Given the description of an element on the screen output the (x, y) to click on. 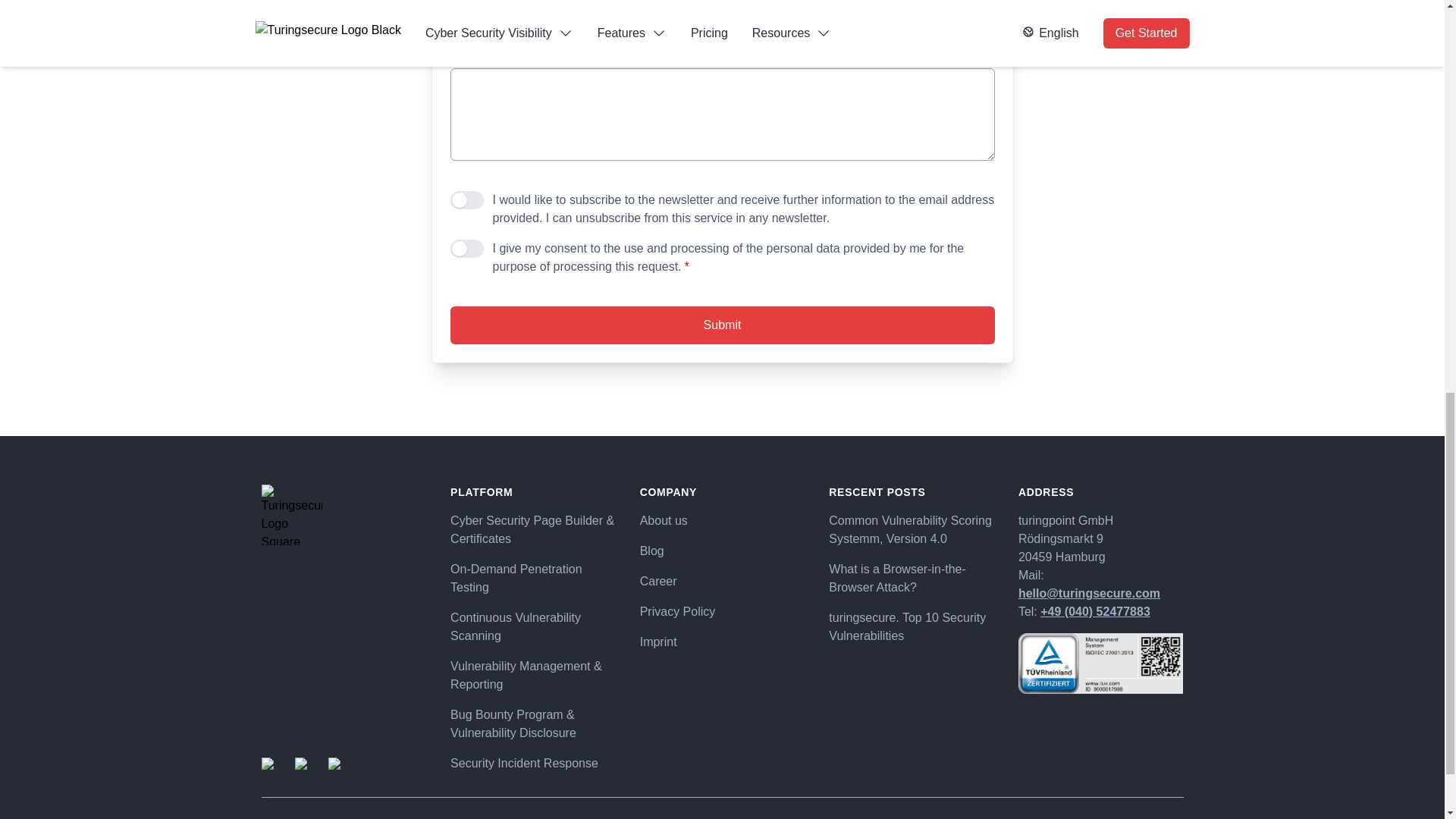
Blog (722, 551)
Continuous Vulnerability Scanning (532, 627)
On-Demand Penetration Testing (532, 578)
Security Incident Response (532, 763)
Imprint (722, 642)
Career (722, 581)
Privacy Policy (722, 611)
Submit (721, 324)
Common Vulnerability Scoring Systemm, Version 4.0 (911, 529)
About us (722, 520)
